Given the description of an element on the screen output the (x, y) to click on. 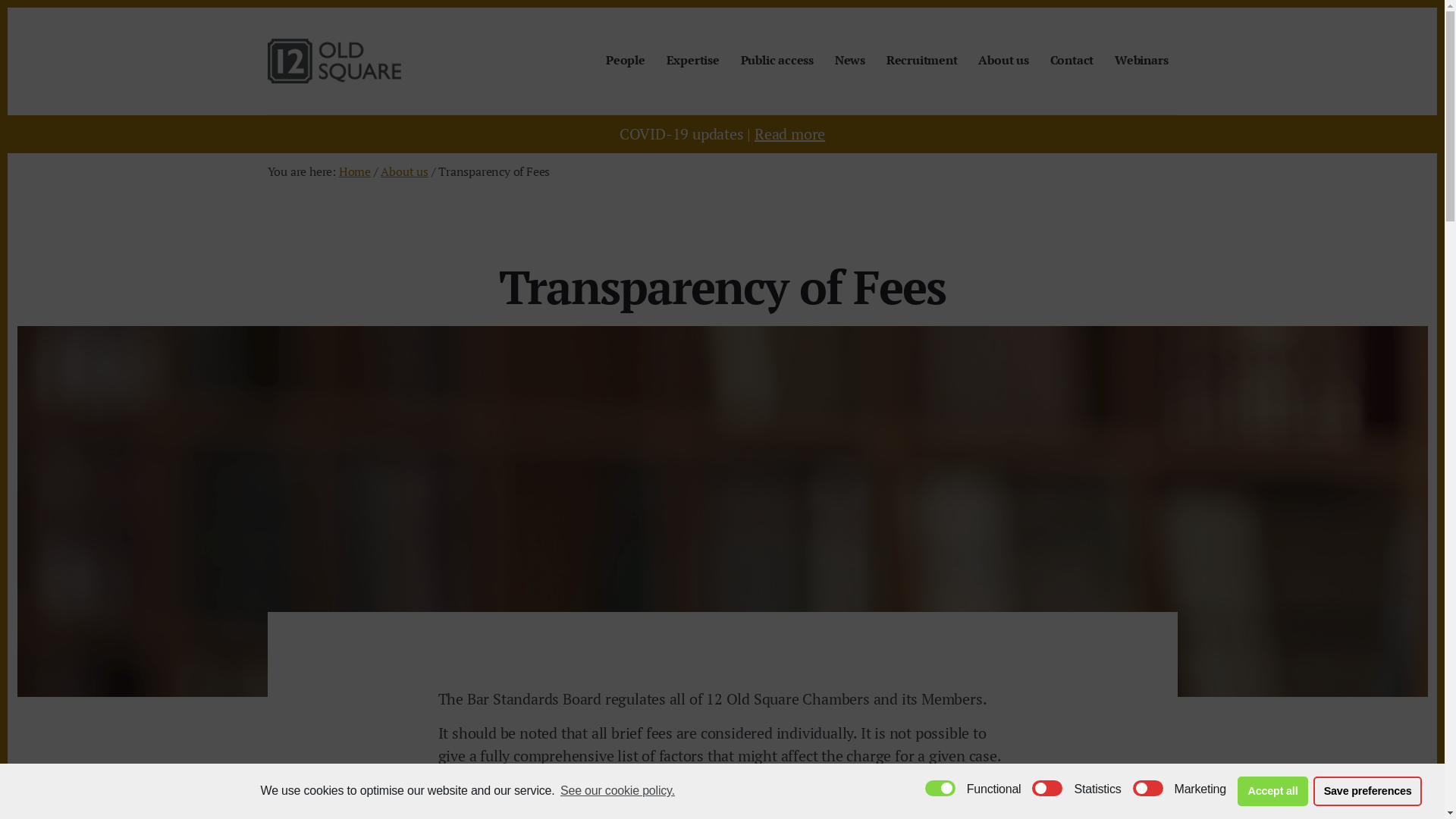
Read more Element type: text (789, 133)
Webinars Element type: text (1140, 60)
News Element type: text (849, 60)
Expertise Element type: text (692, 60)
Recruitment Element type: text (921, 60)
Accept all Element type: text (1272, 791)
Save preferences Element type: text (1367, 791)
About us Element type: text (403, 171)
Public access Element type: text (776, 60)
See our cookie policy. Element type: text (616, 790)
People Element type: text (625, 60)
About us Element type: text (1003, 60)
Contact Element type: text (1072, 60)
Skip to content Element type: text (7, 7)
Home Element type: text (354, 171)
